Given the description of an element on the screen output the (x, y) to click on. 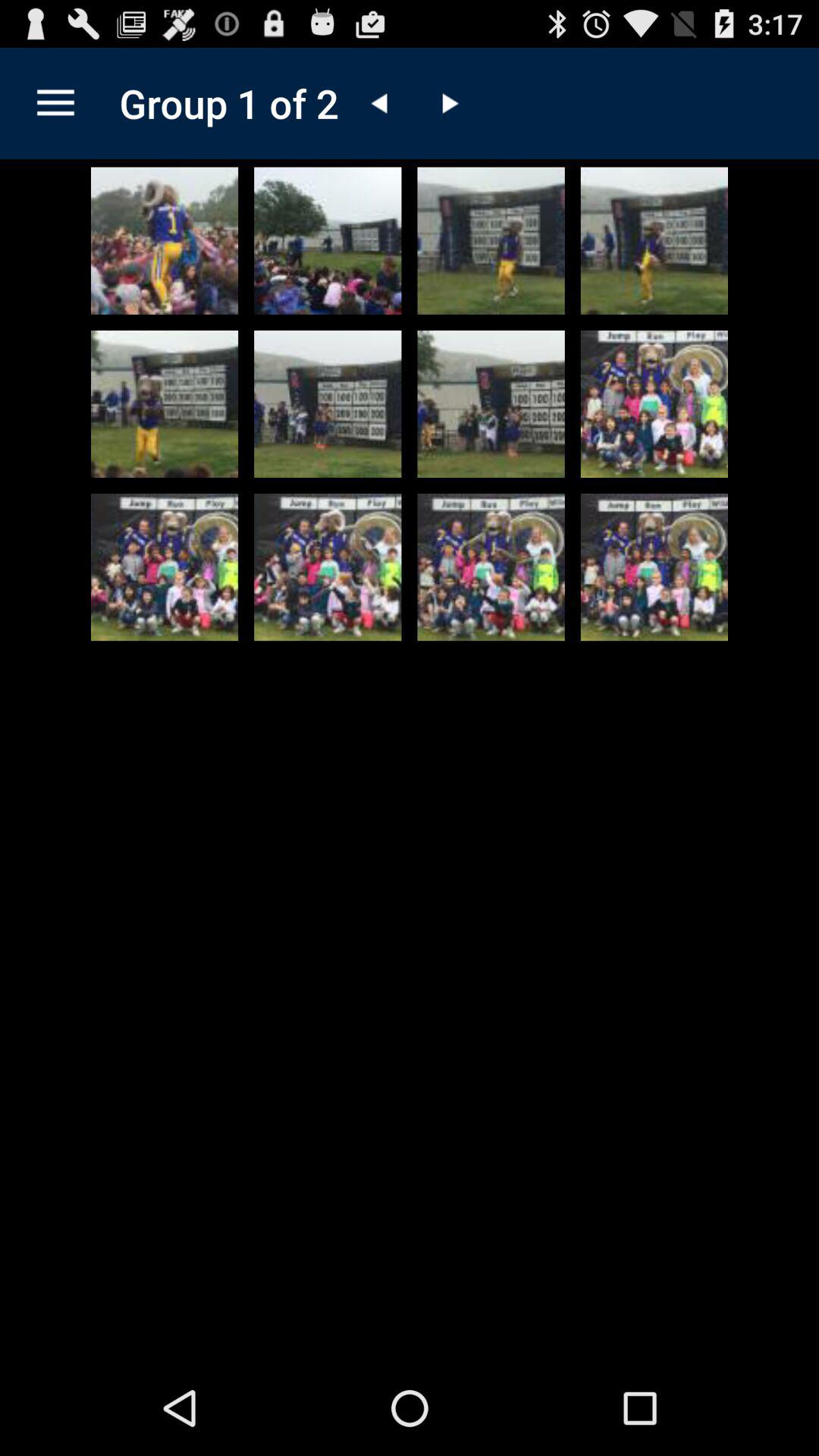
picture link (164, 403)
